Given the description of an element on the screen output the (x, y) to click on. 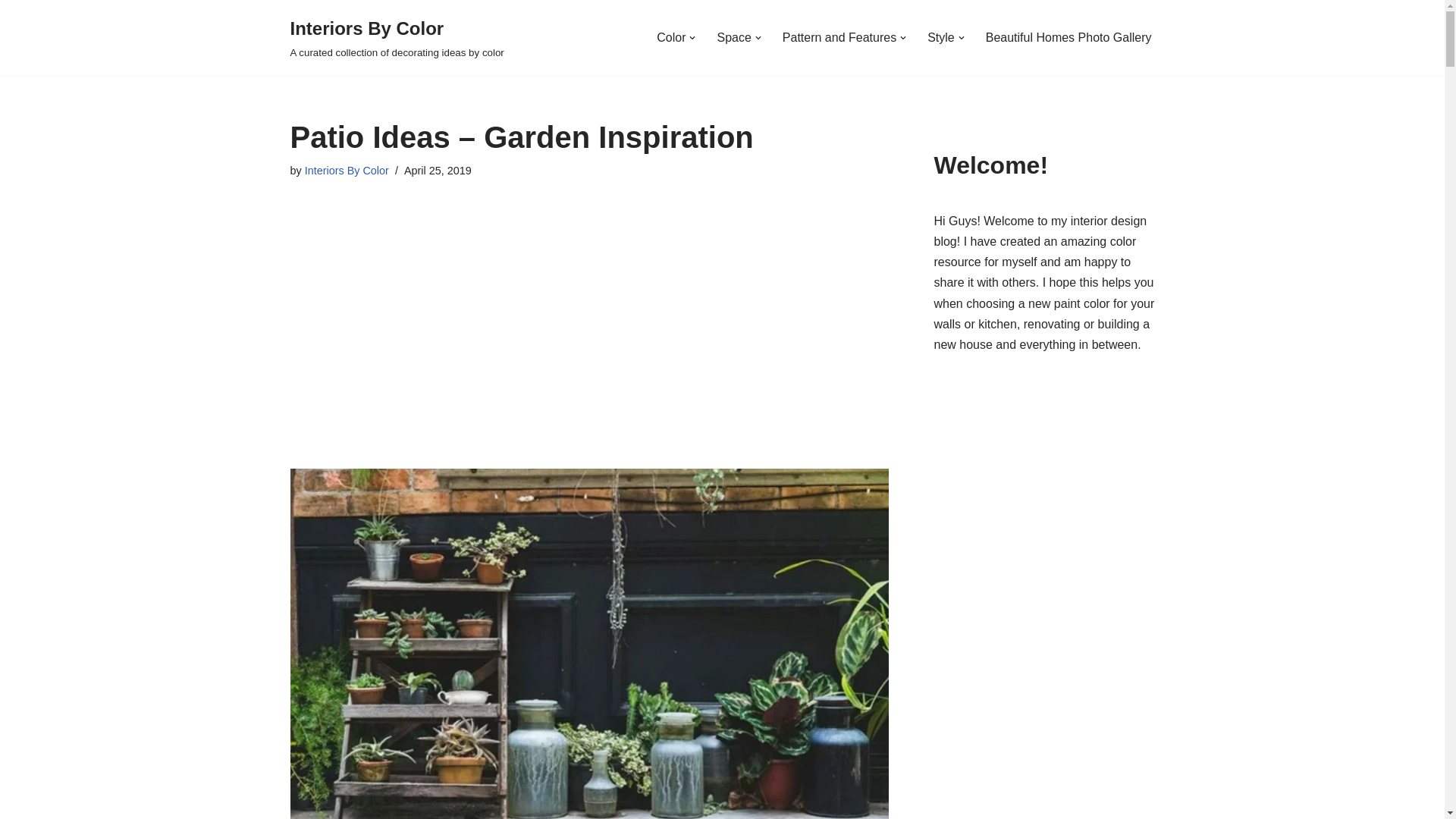
Space (733, 37)
Advertisement (588, 309)
Posts by Interiors By Color (346, 170)
Color (670, 37)
Skip to content (11, 31)
